Given the description of an element on the screen output the (x, y) to click on. 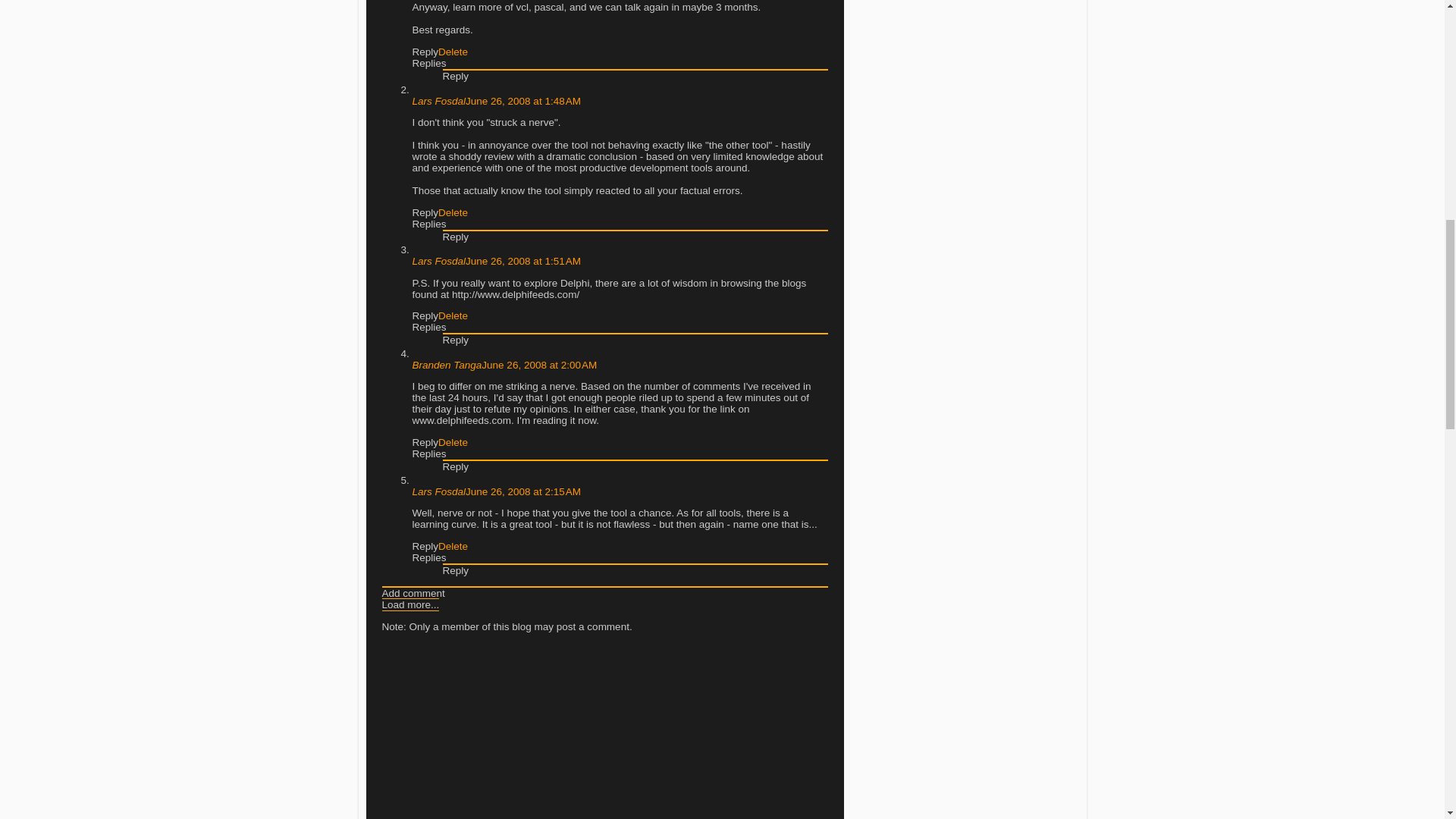
Reply (455, 236)
Lars Fosdal (438, 101)
Reply (425, 315)
Lars Fosdal (438, 491)
Load more... (410, 604)
Delete (452, 51)
Add comment (413, 593)
Reply (455, 466)
Delete (452, 441)
Reply (425, 212)
Delete (452, 546)
Delete (452, 212)
Reply (455, 75)
